Given the description of an element on the screen output the (x, y) to click on. 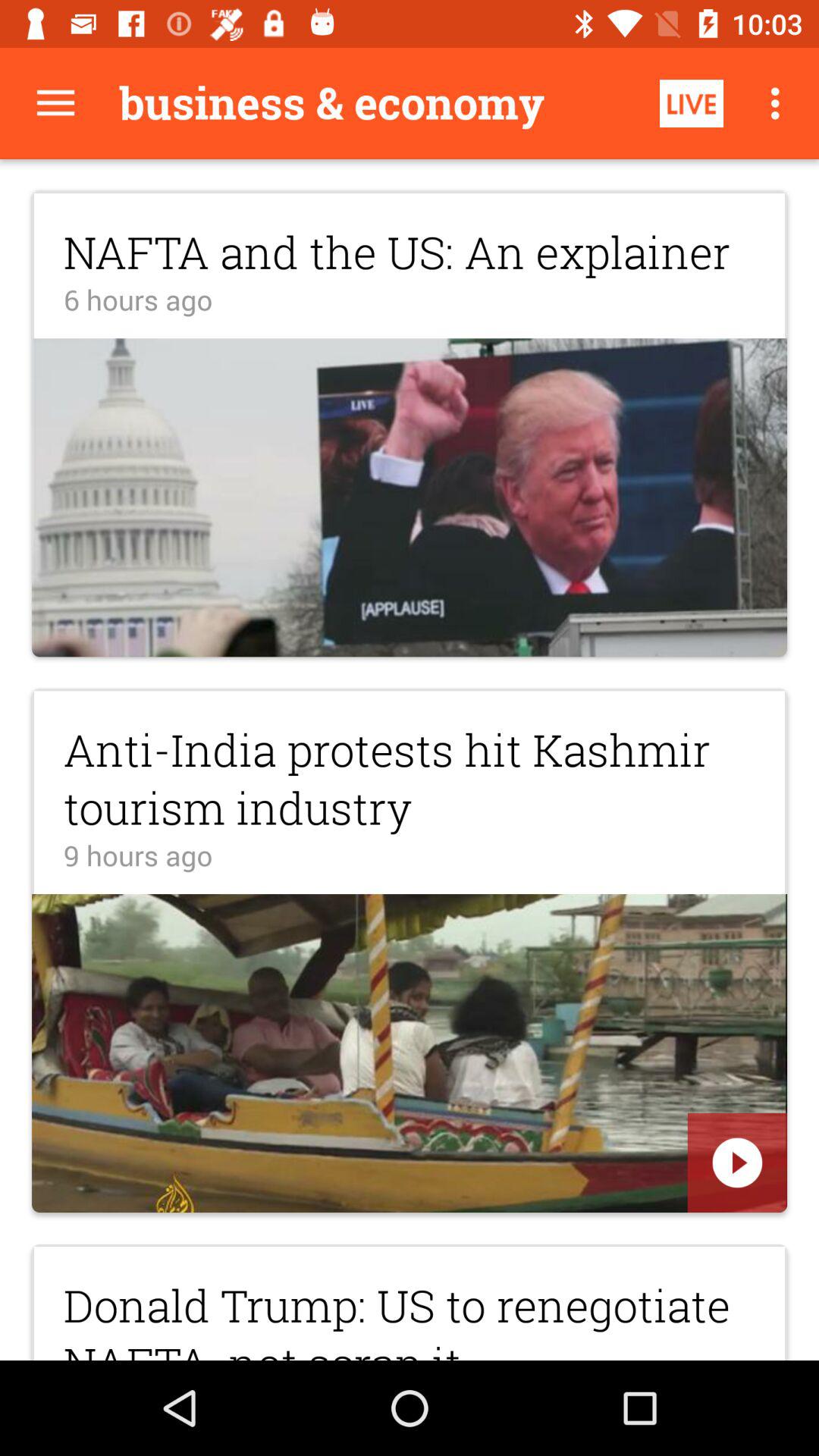
show menu (55, 103)
